Given the description of an element on the screen output the (x, y) to click on. 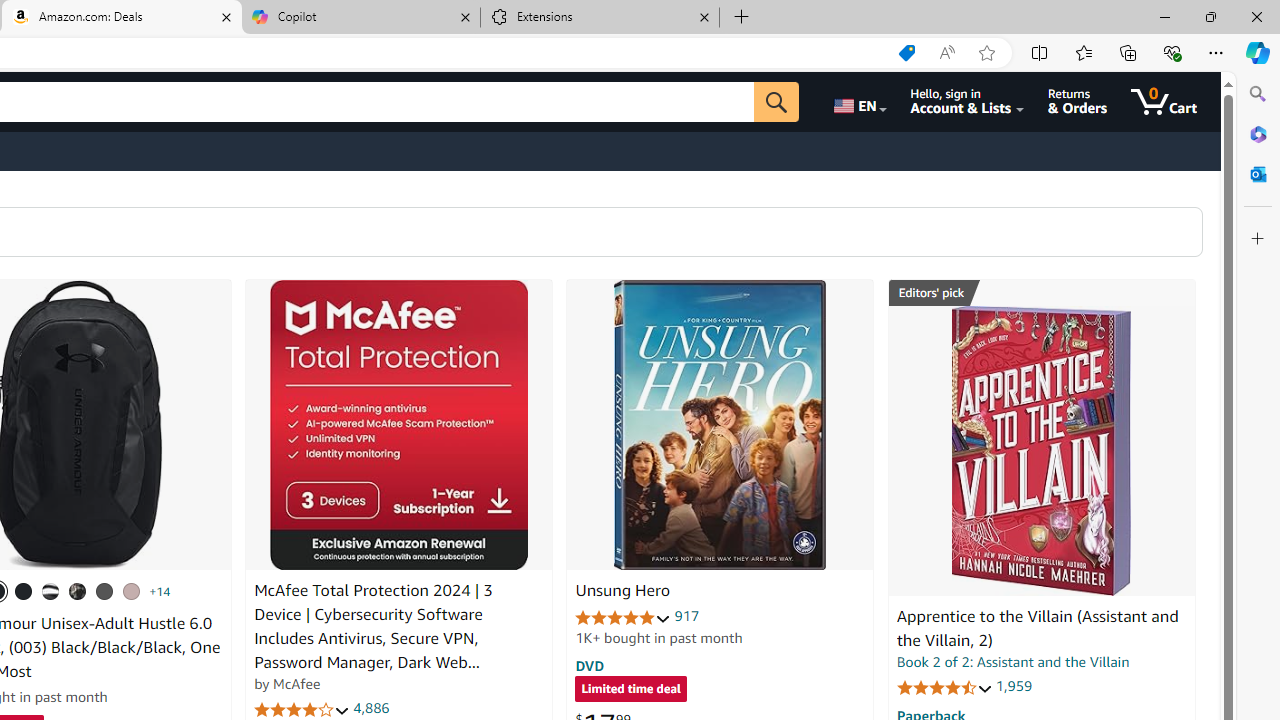
Limited time deal (630, 690)
(015) Tetra Gray / Tetra Gray / Gray Matter (131, 591)
(002) Black / Black / White (51, 591)
Returns & Orders (1077, 101)
Copilot (360, 17)
Unsung Hero (622, 591)
Apprentice to the Villain (Assistant and the Villain, 2) (1037, 628)
